Given the description of an element on the screen output the (x, y) to click on. 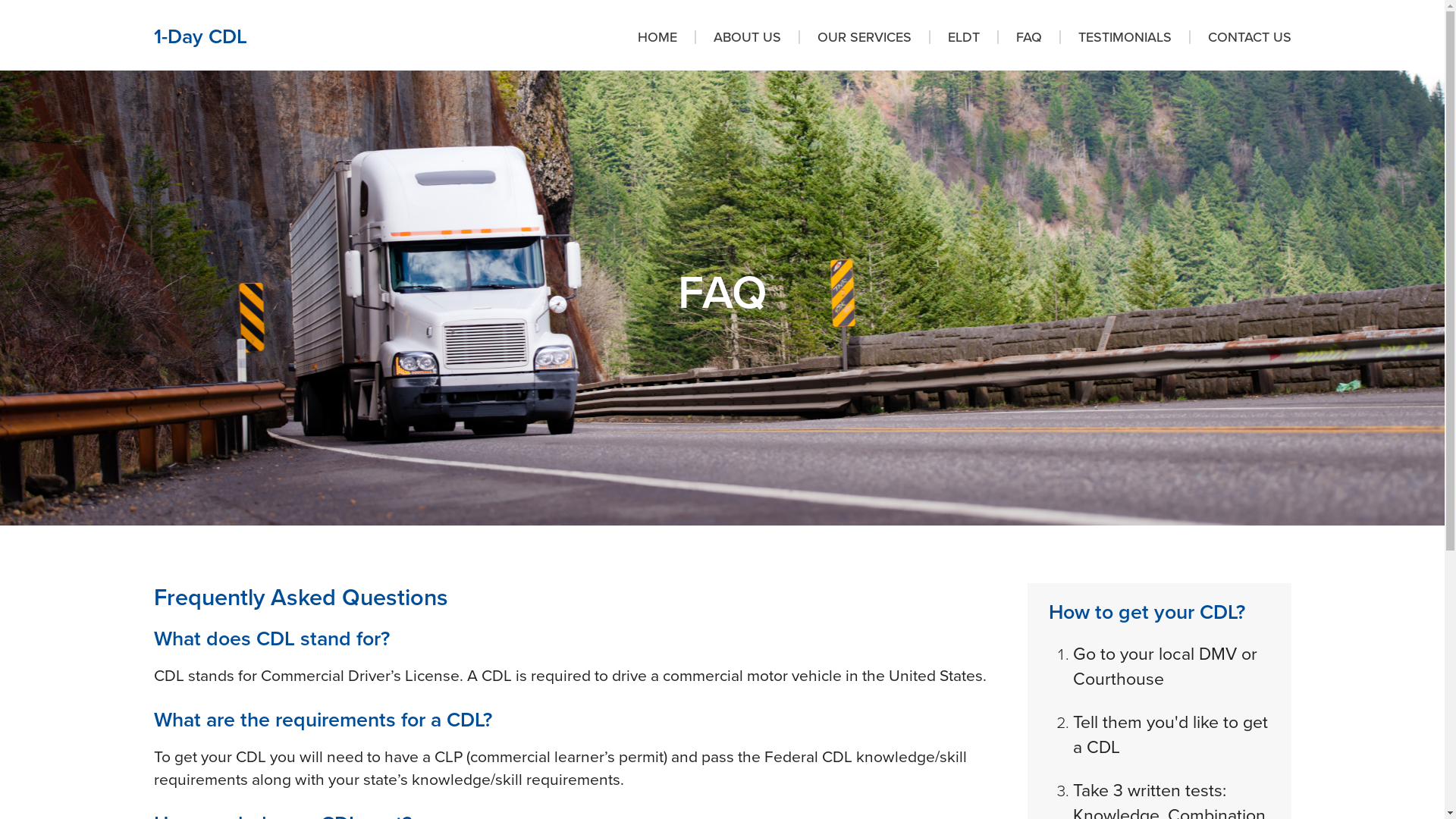
HOME Element type: text (665, 36)
CONTACT US Element type: text (1240, 36)
ELDT Element type: text (962, 36)
TESTIMONIALS Element type: text (1124, 36)
ABOUT US Element type: text (747, 36)
FAQ Element type: text (1027, 36)
OUR SERVICES Element type: text (863, 36)
